Given the description of an element on the screen output the (x, y) to click on. 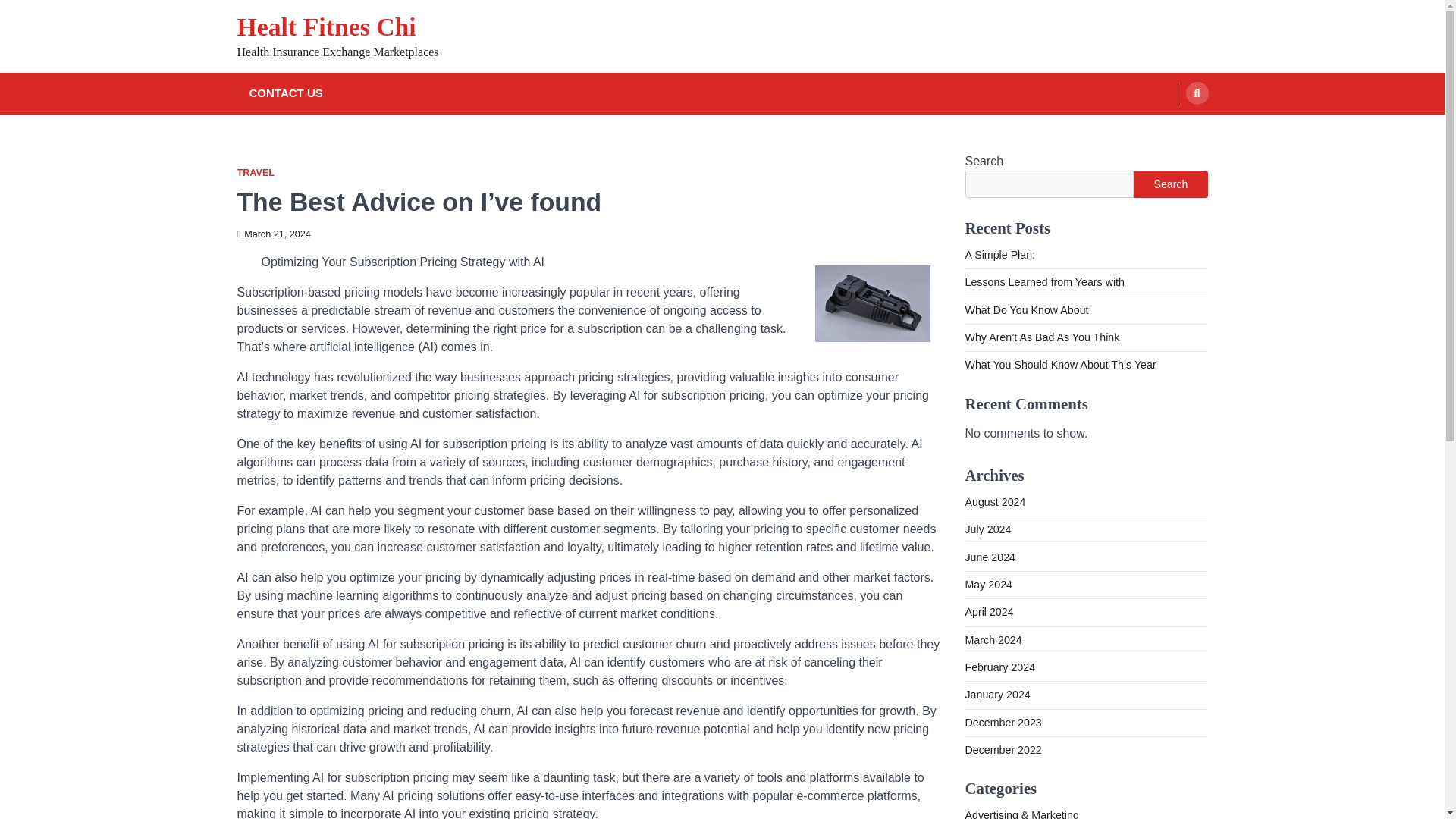
CONTACT US (286, 93)
April 2024 (988, 612)
July 2024 (986, 529)
Healt Fitnes Chi (324, 26)
What Do You Know About (1025, 309)
Search (1168, 128)
January 2024 (996, 694)
A Simple Plan: (999, 254)
Search (1170, 184)
December 2023 (1002, 722)
